Given the description of an element on the screen output the (x, y) to click on. 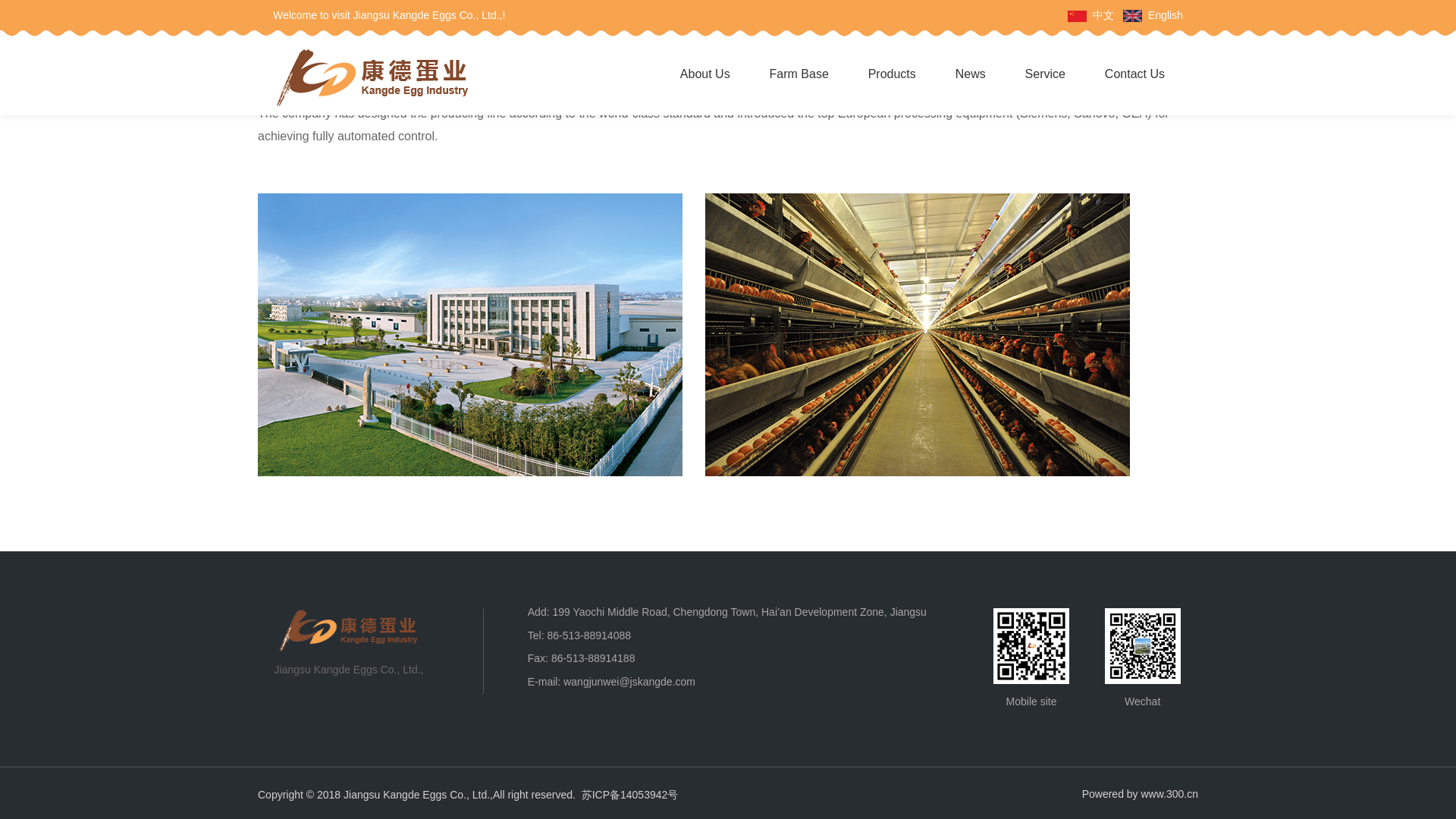
86-513-88914088 (588, 635)
Powered by www.300.cn (1139, 793)
Mobile site (1030, 645)
Jiangsu Kangde Eggs Co., Ltd., (348, 629)
Wechat (1142, 645)
